Given the description of an element on the screen output the (x, y) to click on. 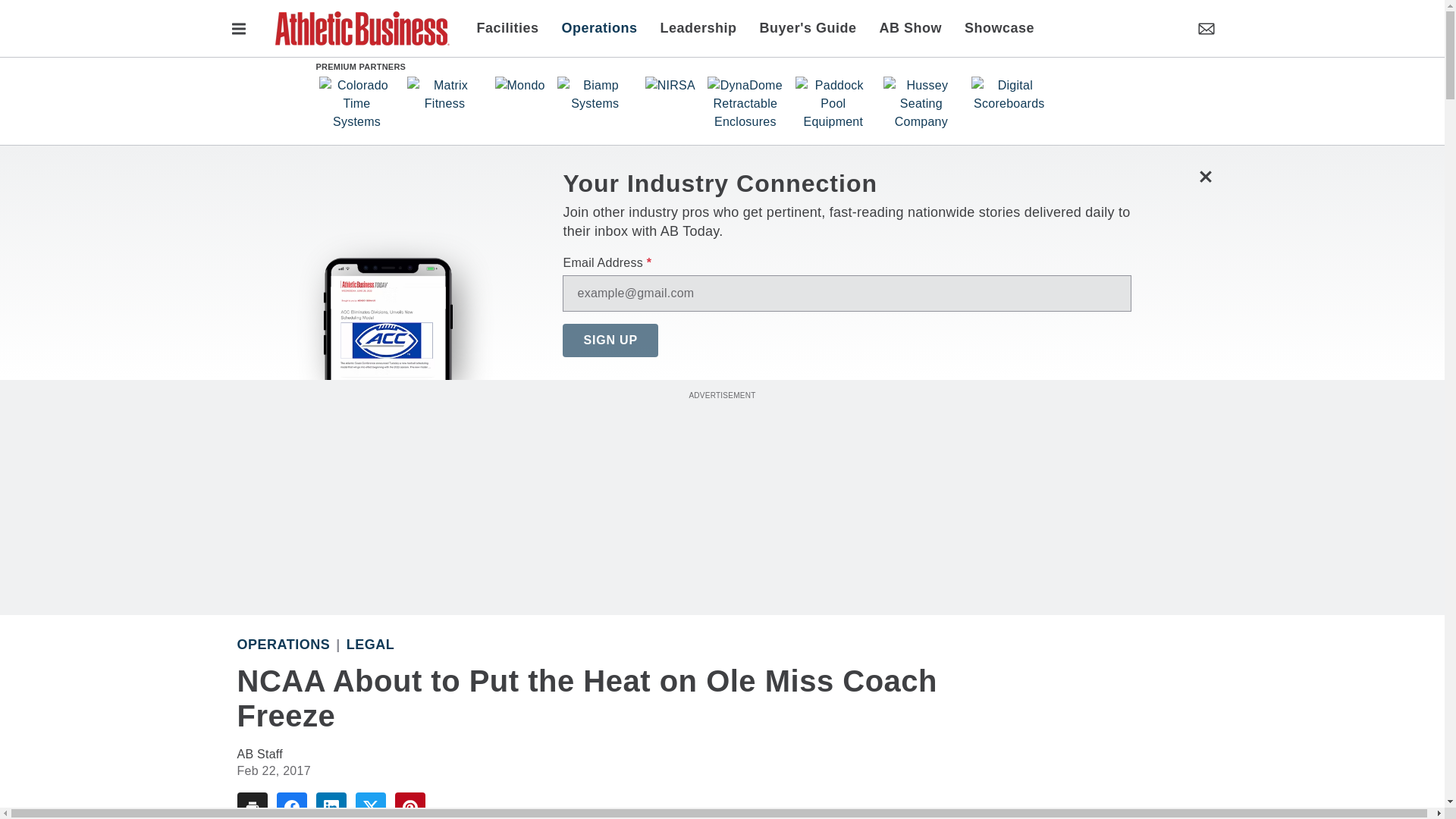
Biamp Systems (595, 94)
Leadership (698, 27)
NIRSA (670, 85)
DynaDome Retractable Enclosures (745, 103)
AB Show (910, 27)
Digital Scoreboards (1008, 94)
Operations (599, 27)
SIGN UP (610, 340)
Hussey Seating Company (921, 103)
Colorado Time Systems (356, 103)
